Given the description of an element on the screen output the (x, y) to click on. 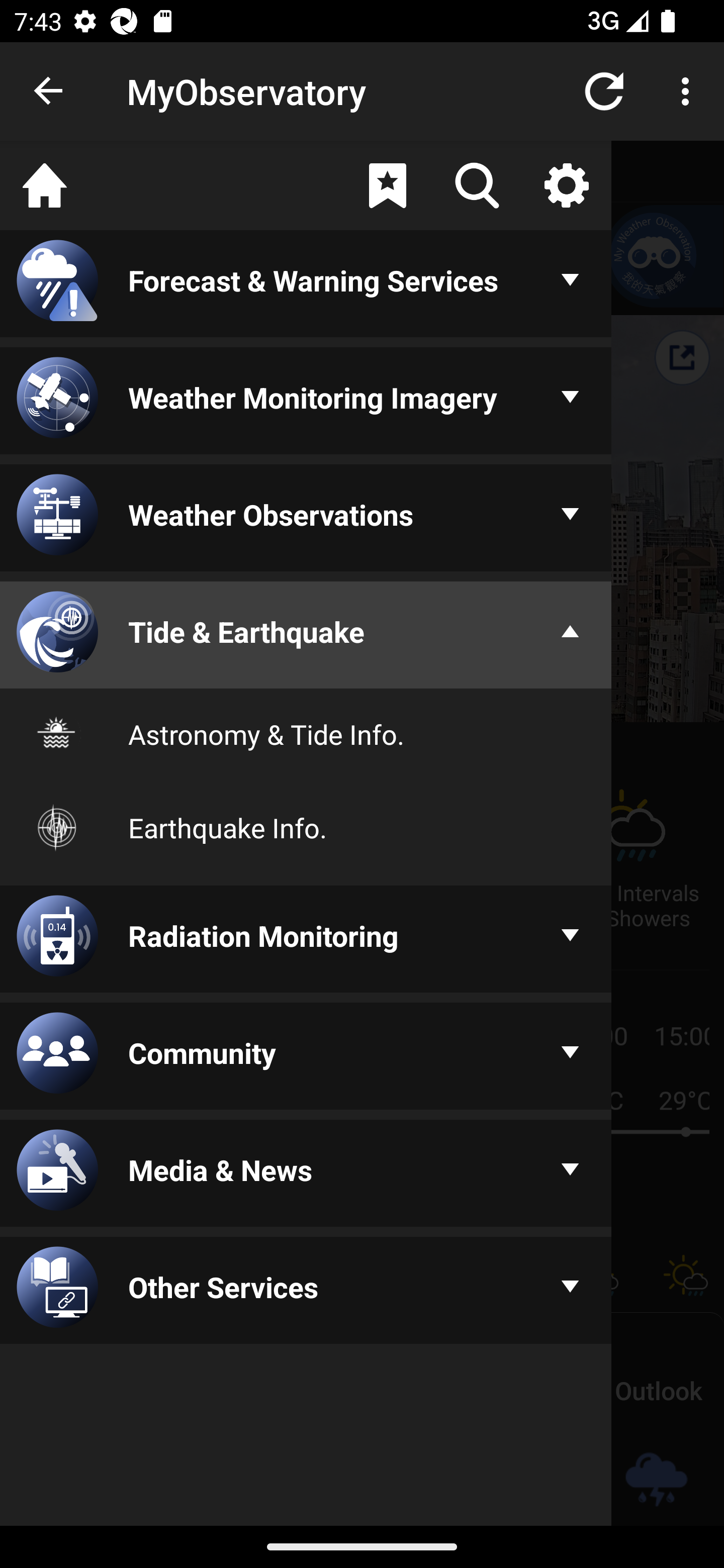
Navigate up (49, 91)
Refresh (604, 90)
More options (688, 90)
Homepage (44, 185)
Bookmark Manager (387, 185)
Search Unselected (477, 185)
Settings (566, 185)
Forecast & Warning Services Collapsed (305, 285)
Weather Monitoring Imagery Collapsed (305, 401)
Weather Observations Collapsed (305, 518)
Astronomy & Tide Info. (305, 734)
Earthquake Info. (305, 827)
Radiation Monitoring Collapsed (305, 940)
Community Collapsed (305, 1056)
Media & News Collapsed (305, 1174)
Other Services Collapsed (305, 1291)
